Given the description of an element on the screen output the (x, y) to click on. 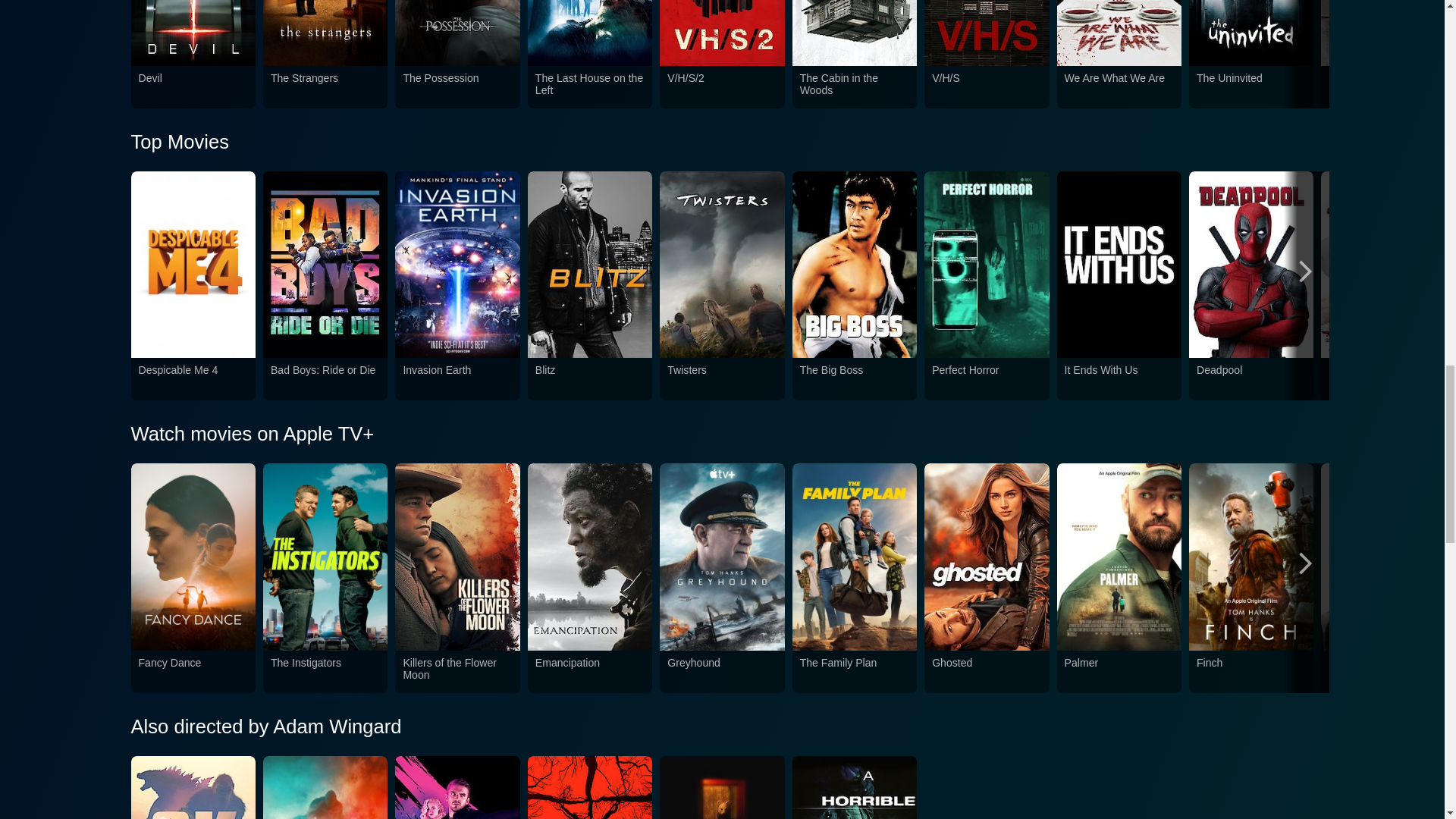
Despicable Me 4 (192, 378)
The Last House on the Left (590, 87)
The Cabin in the Woods (853, 87)
The Possession (457, 87)
The Strangers (325, 87)
Hostel (1382, 87)
Blitz (590, 378)
We Are What We Are (1118, 87)
Bad Boys: Ride or Die (325, 378)
Twisters (721, 378)
